Given the description of an element on the screen output the (x, y) to click on. 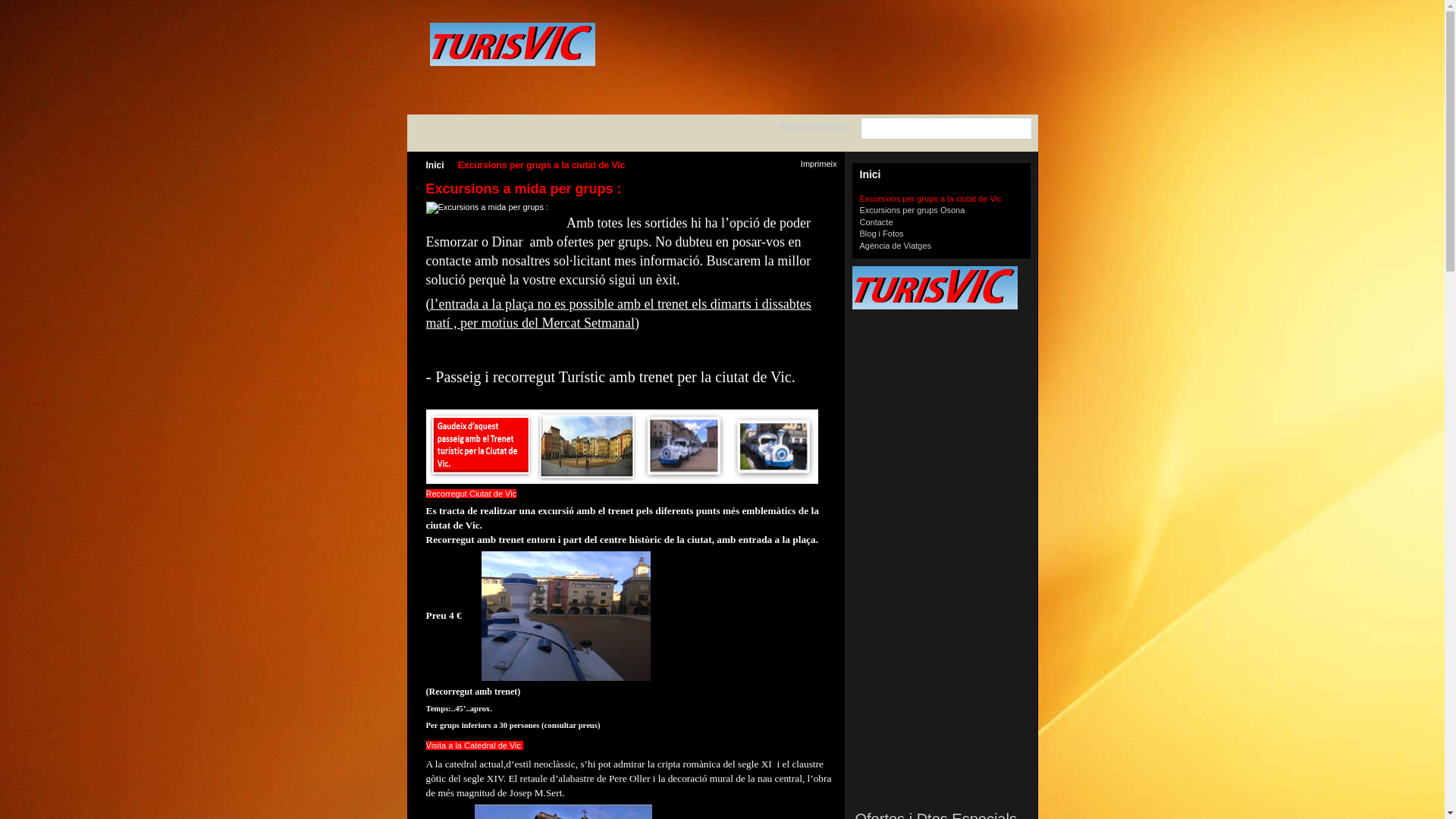
www.turisvic.cat Element type: hover (511, 43)
Imprimeix Element type: text (811, 164)
Blog i Fotos Element type: text (881, 233)
Inici Element type: text (440, 165)
Contacte Element type: text (876, 221)
Recorregut Ciutat de Vic Element type: text (471, 493)
Excursions per grups a la ciutat de Vic Element type: text (930, 198)
Excursions a mida per grups : Element type: hover (487, 207)
Visita a la Catedral de Vic Element type: text (475, 744)
www.turisvic.cat Element type: hover (941, 287)
Inici Element type: text (941, 175)
Excursions per grups Osona Element type: text (912, 209)
